Given the description of an element on the screen output the (x, y) to click on. 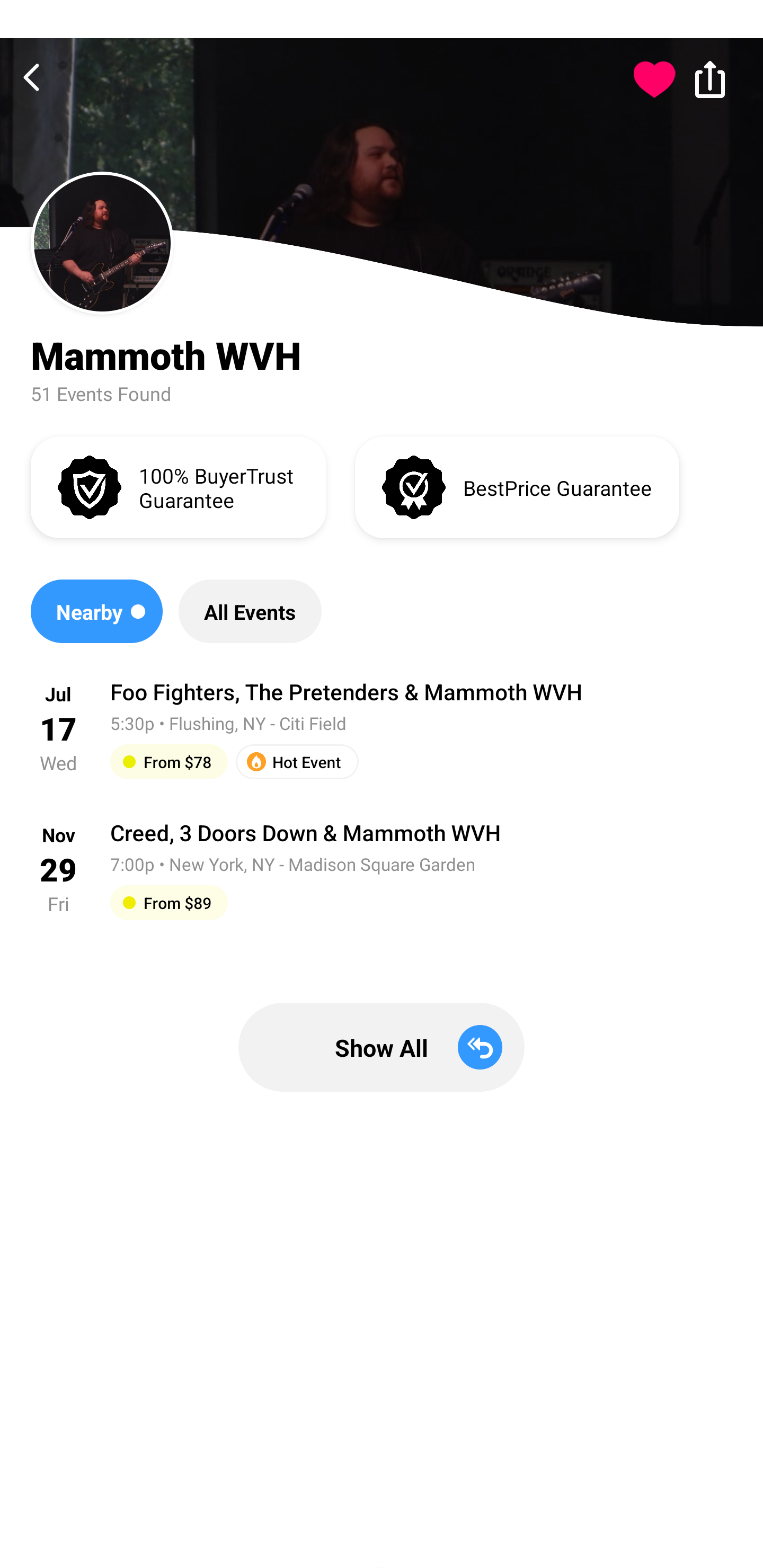
100% BuyerTrust Guarantee (178, 486)
BestPrice Guarantee (516, 486)
Nearby (96, 611)
All Events (249, 611)
Show All (381, 1047)
